Given the description of an element on the screen output the (x, y) to click on. 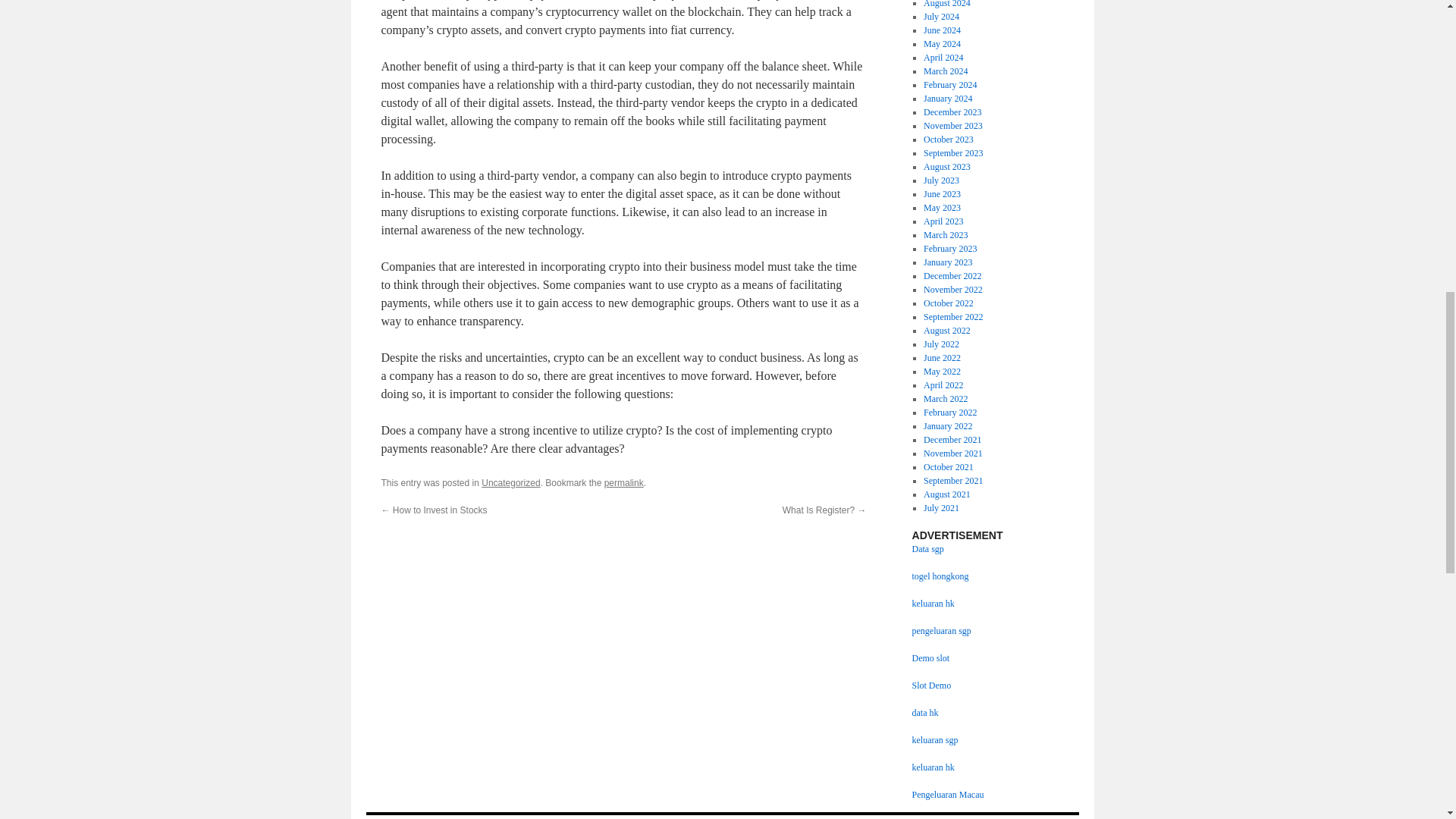
August 2024 (947, 4)
June 2024 (941, 30)
January 2024 (947, 98)
permalink (623, 482)
March 2024 (945, 71)
April 2024 (942, 57)
February 2024 (949, 84)
July 2024 (941, 16)
December 2023 (952, 112)
Permalink to Using Cryptocurrency for Business (623, 482)
May 2024 (941, 43)
Uncategorized (510, 482)
